Given the description of an element on the screen output the (x, y) to click on. 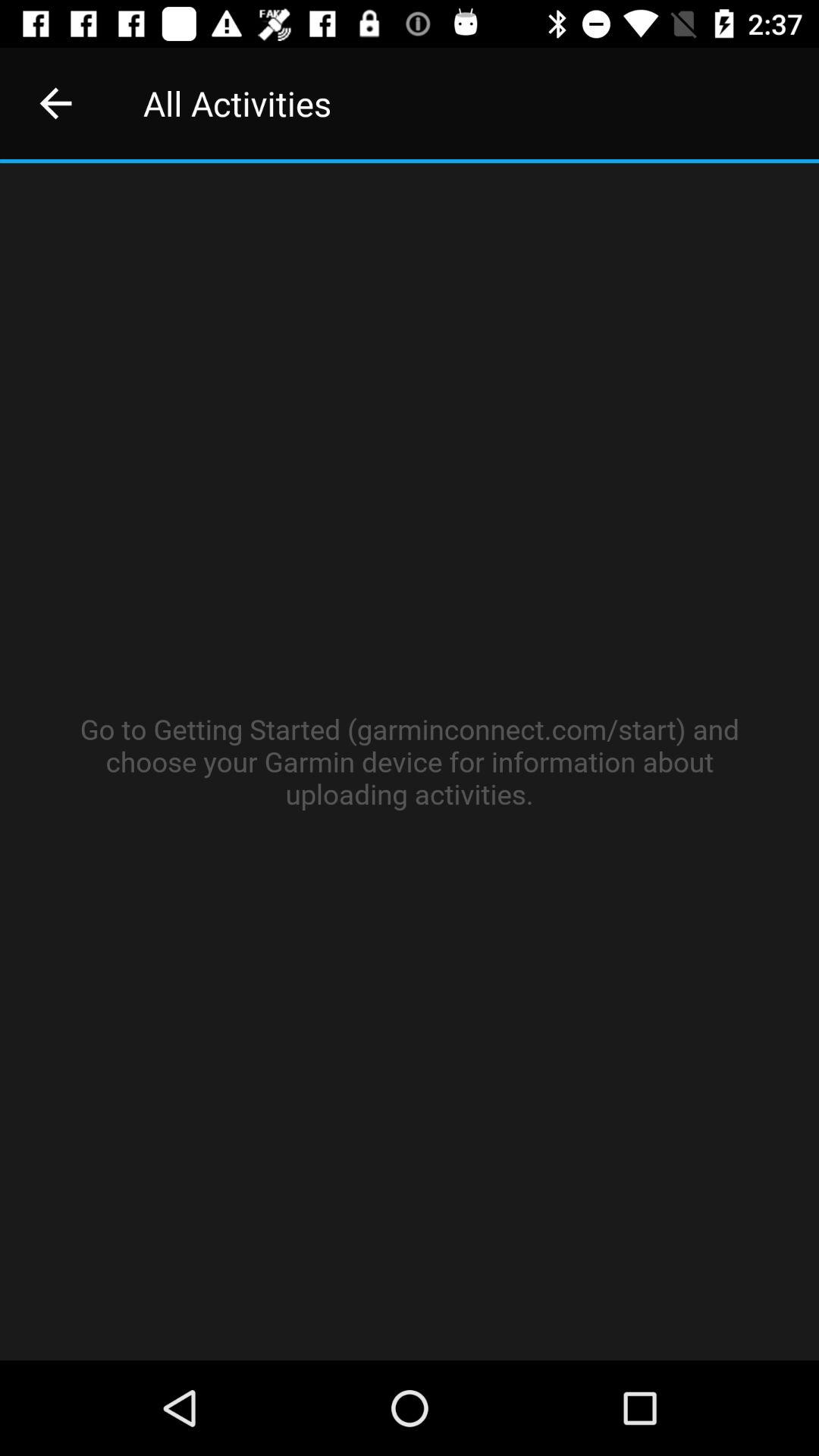
turn off item at the center (409, 761)
